Given the description of an element on the screen output the (x, y) to click on. 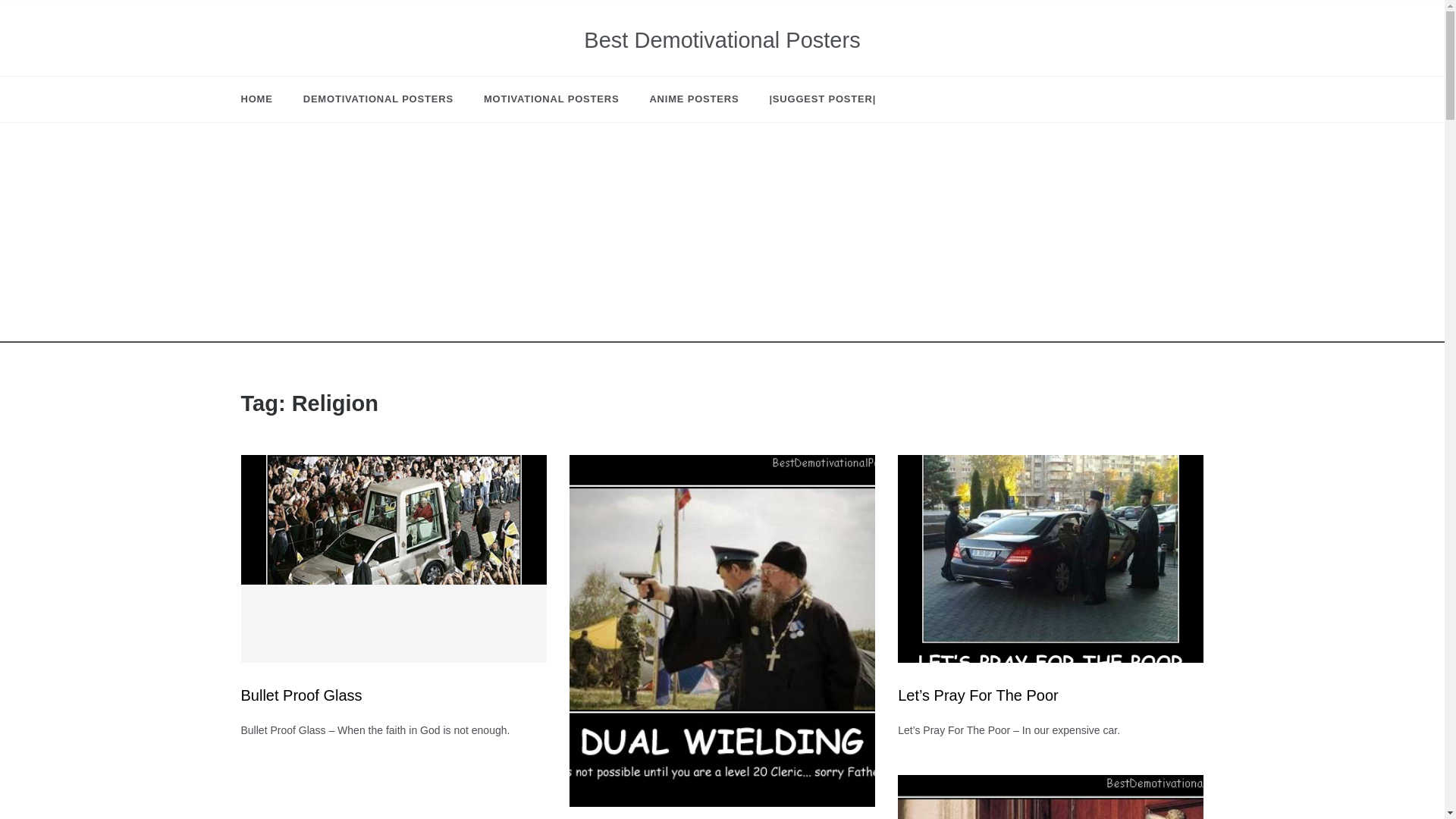
Bullet Proof Glass (301, 695)
ANIME POSTERS (693, 99)
DEMOTIVATIONAL POSTERS (378, 99)
Home (264, 99)
MOTIVATIONAL POSTERS (551, 99)
Best Demotivational Posters (721, 39)
HOME (264, 99)
